Given the description of an element on the screen output the (x, y) to click on. 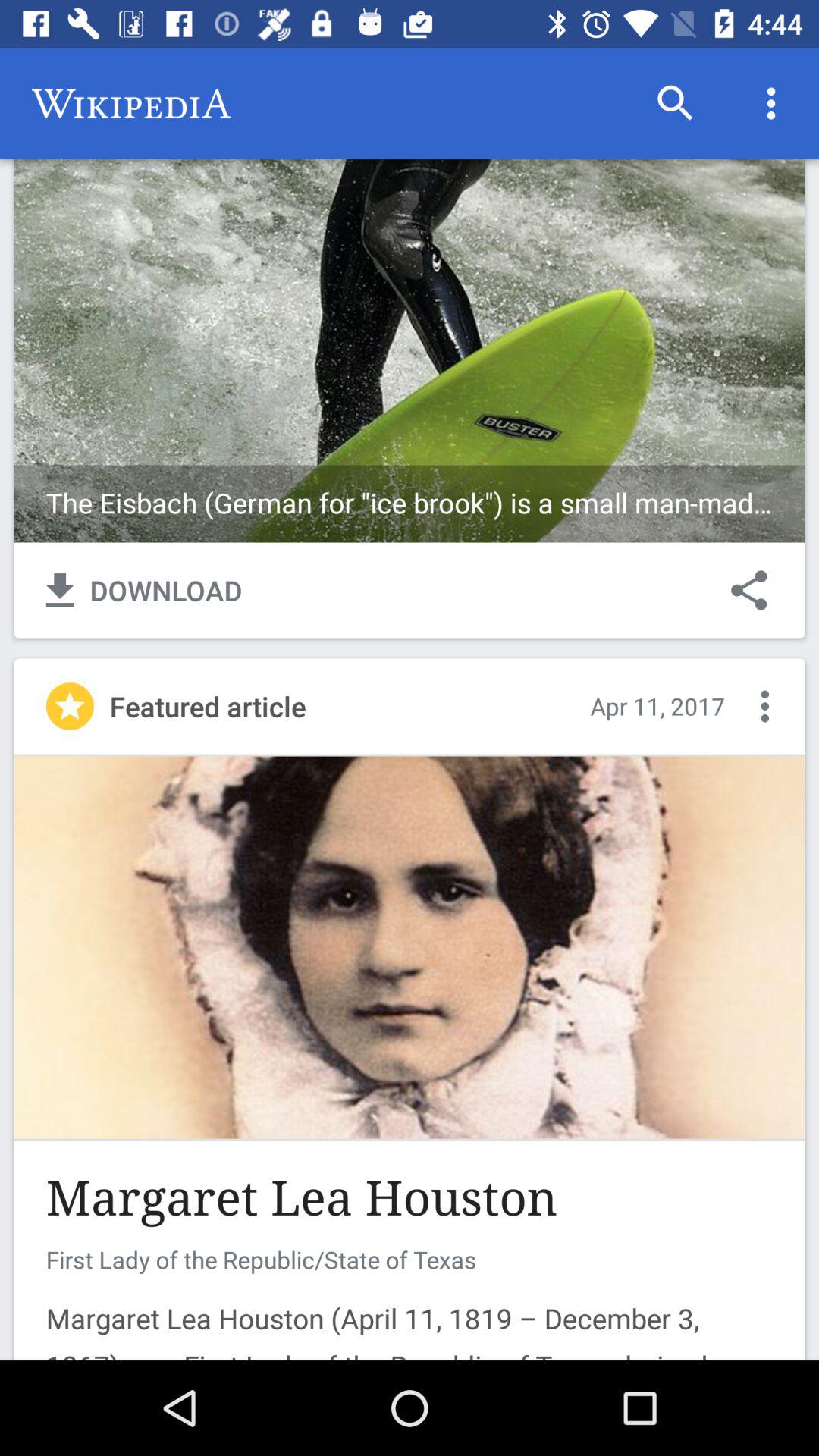
launch icon above the eisbach german item (675, 103)
